Given the description of an element on the screen output the (x, y) to click on. 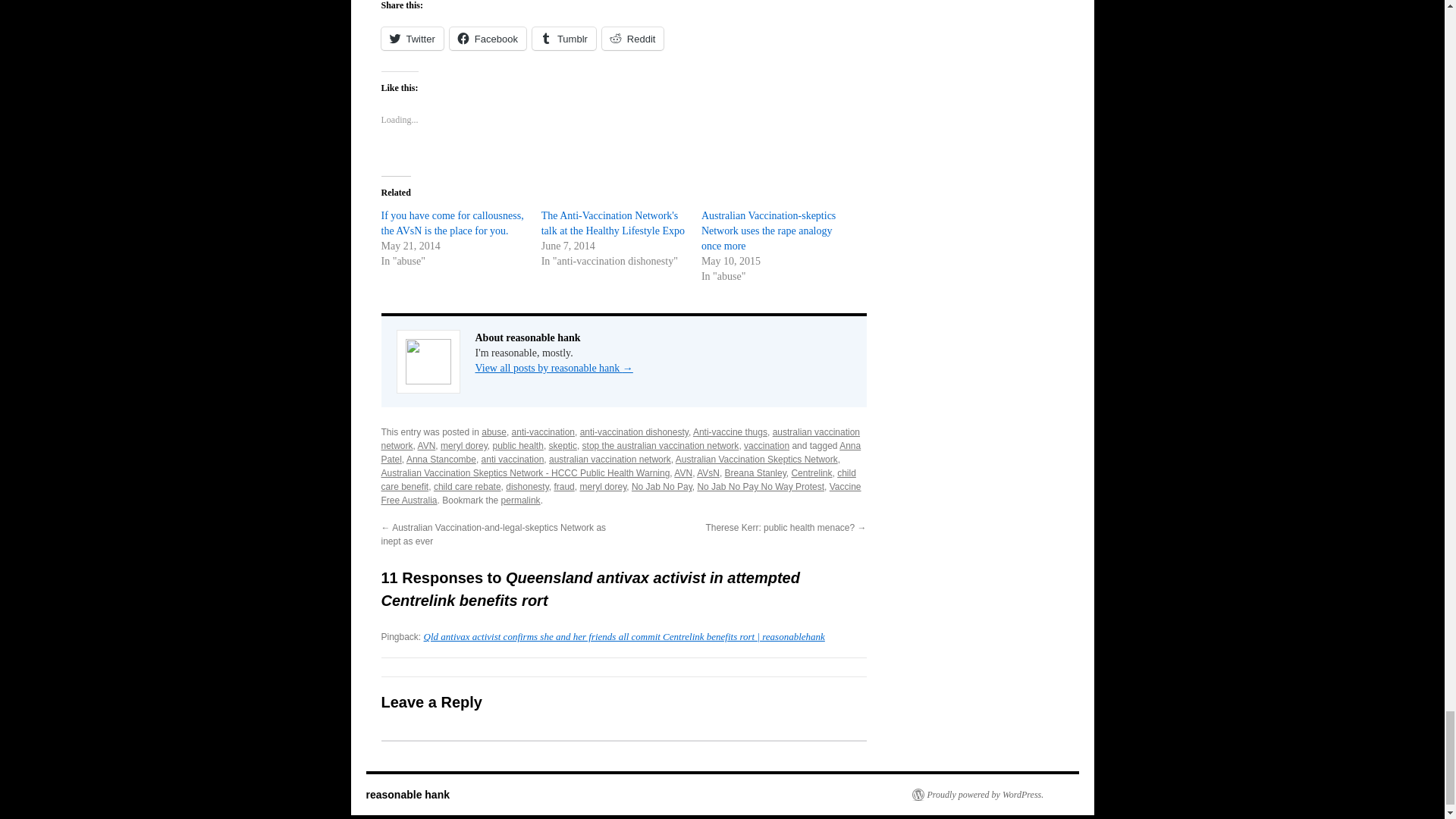
Click to share on Reddit (632, 38)
Click to share on Twitter (411, 38)
Click to share on Facebook (487, 38)
Click to share on Tumblr (563, 38)
